Given the description of an element on the screen output the (x, y) to click on. 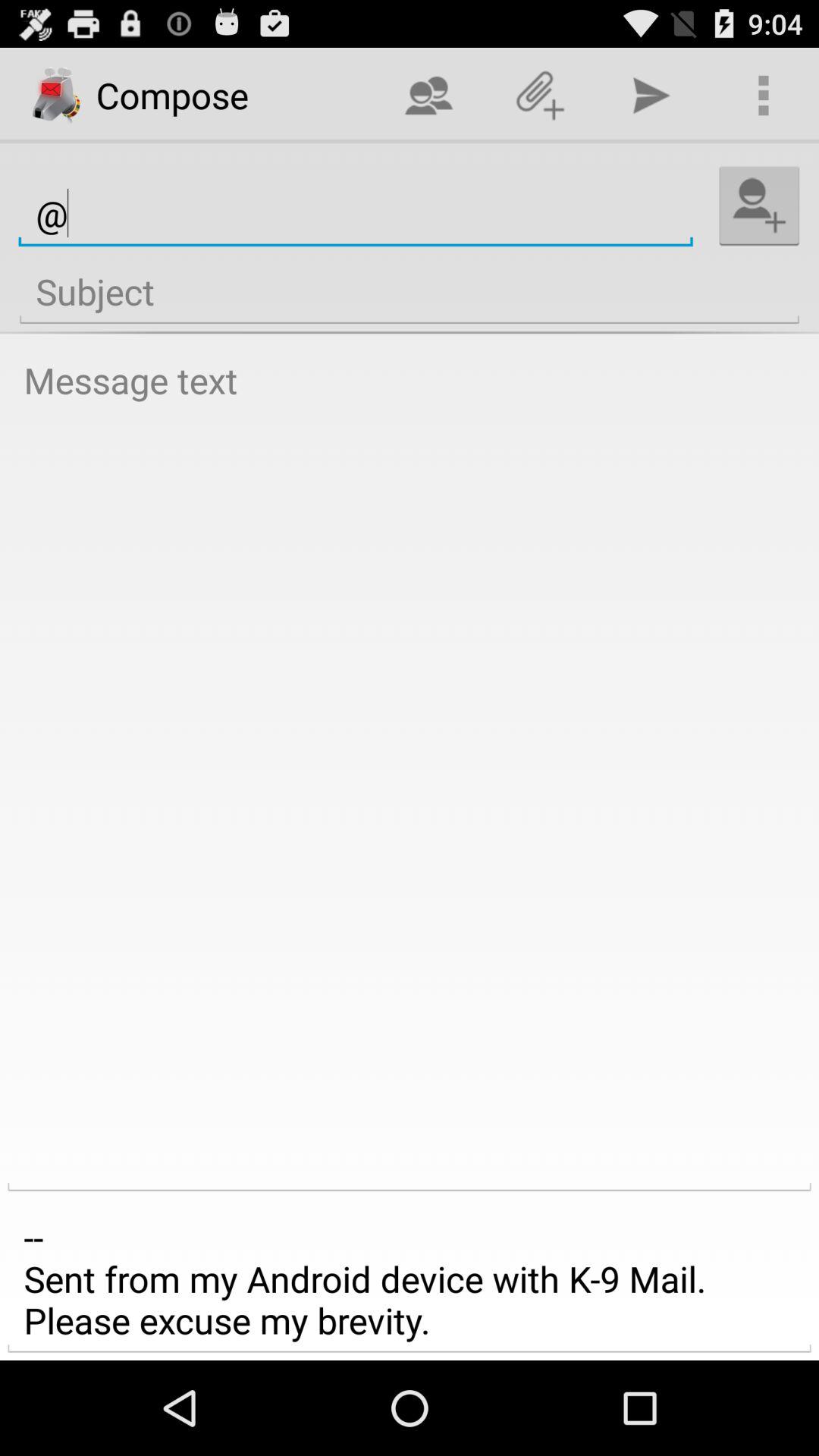
turn on the app next to the compose icon (428, 95)
